Given the description of an element on the screen output the (x, y) to click on. 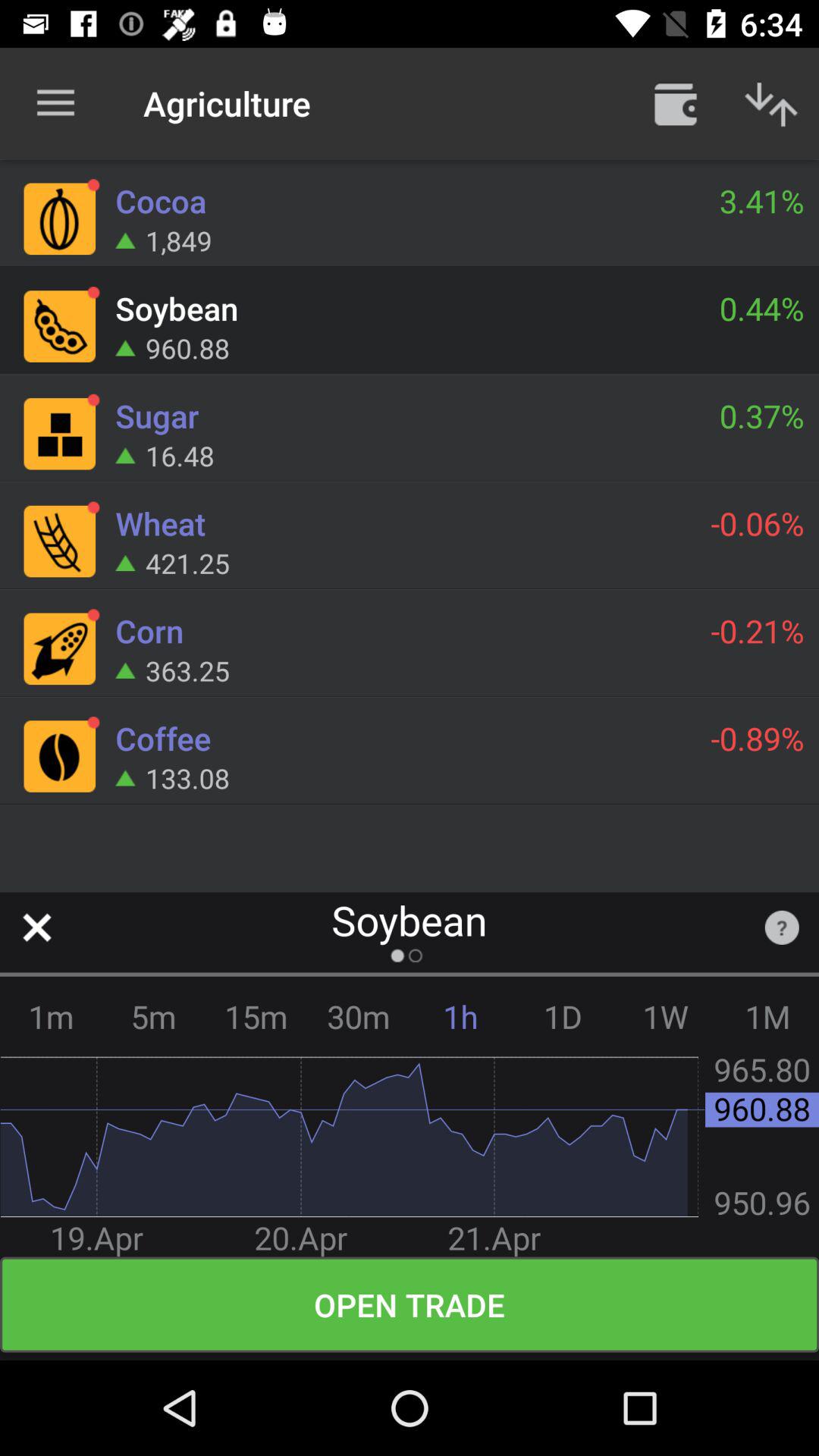
scroll until the 5m item (153, 1016)
